Given the description of an element on the screen output the (x, y) to click on. 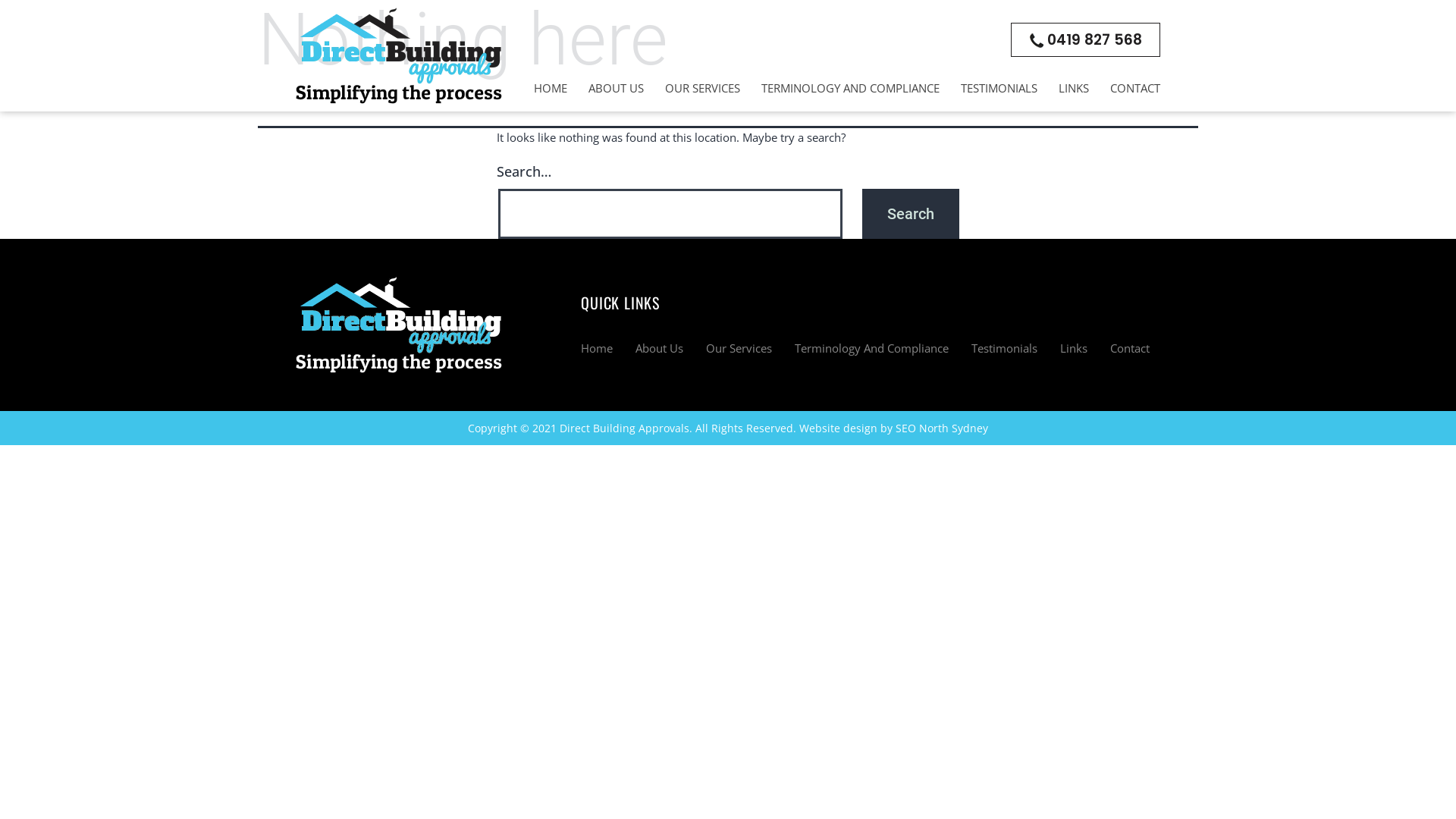
Direct Building Approvals Element type: text (624, 427)
LINKS Element type: text (1073, 87)
Home Element type: text (596, 347)
SEO North Sydney Element type: text (941, 427)
ABOUT US Element type: text (615, 87)
OUR SERVICES Element type: text (702, 87)
CONTACT Element type: text (1135, 87)
About Us Element type: text (659, 347)
TESTIMONIALS Element type: text (998, 87)
HOME Element type: text (550, 87)
Links Element type: text (1073, 347)
Our Services Element type: text (738, 347)
Terminology And Compliance Element type: text (871, 347)
Contact Element type: text (1129, 347)
TERMINOLOGY AND COMPLIANCE Element type: text (850, 87)
0419 827 568 Element type: text (1085, 39)
Search Element type: text (910, 213)
Testimonials Element type: text (1004, 347)
